Given the description of an element on the screen output the (x, y) to click on. 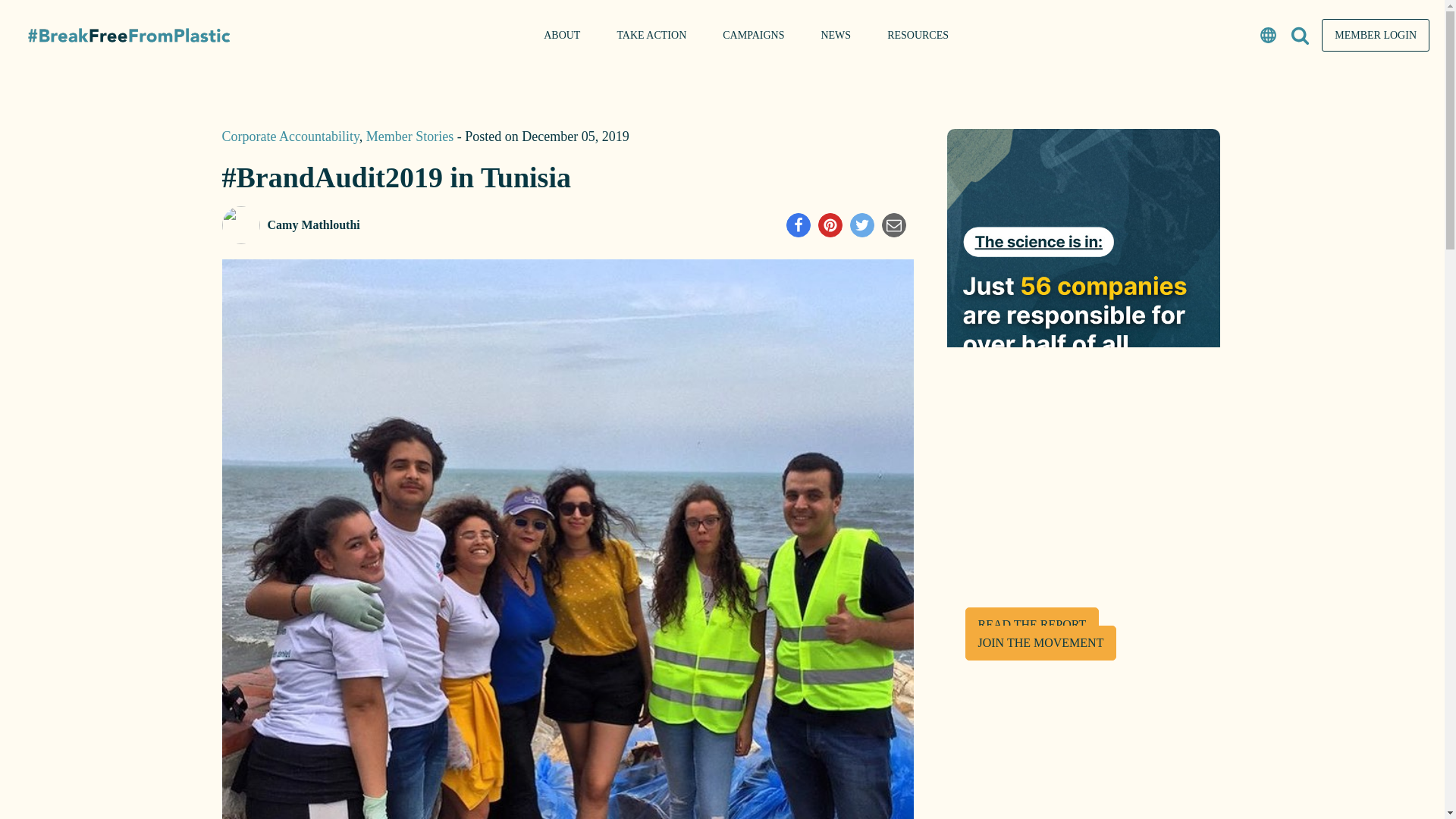
MEMBER LOGIN (1375, 34)
Corporate Accountability (289, 136)
TAKE ACTION (651, 35)
RESOURCES (917, 35)
CAMPAIGNS (753, 35)
Member Stories (409, 136)
NEWS (835, 35)
ABOUT (561, 35)
